Given the description of an element on the screen output the (x, y) to click on. 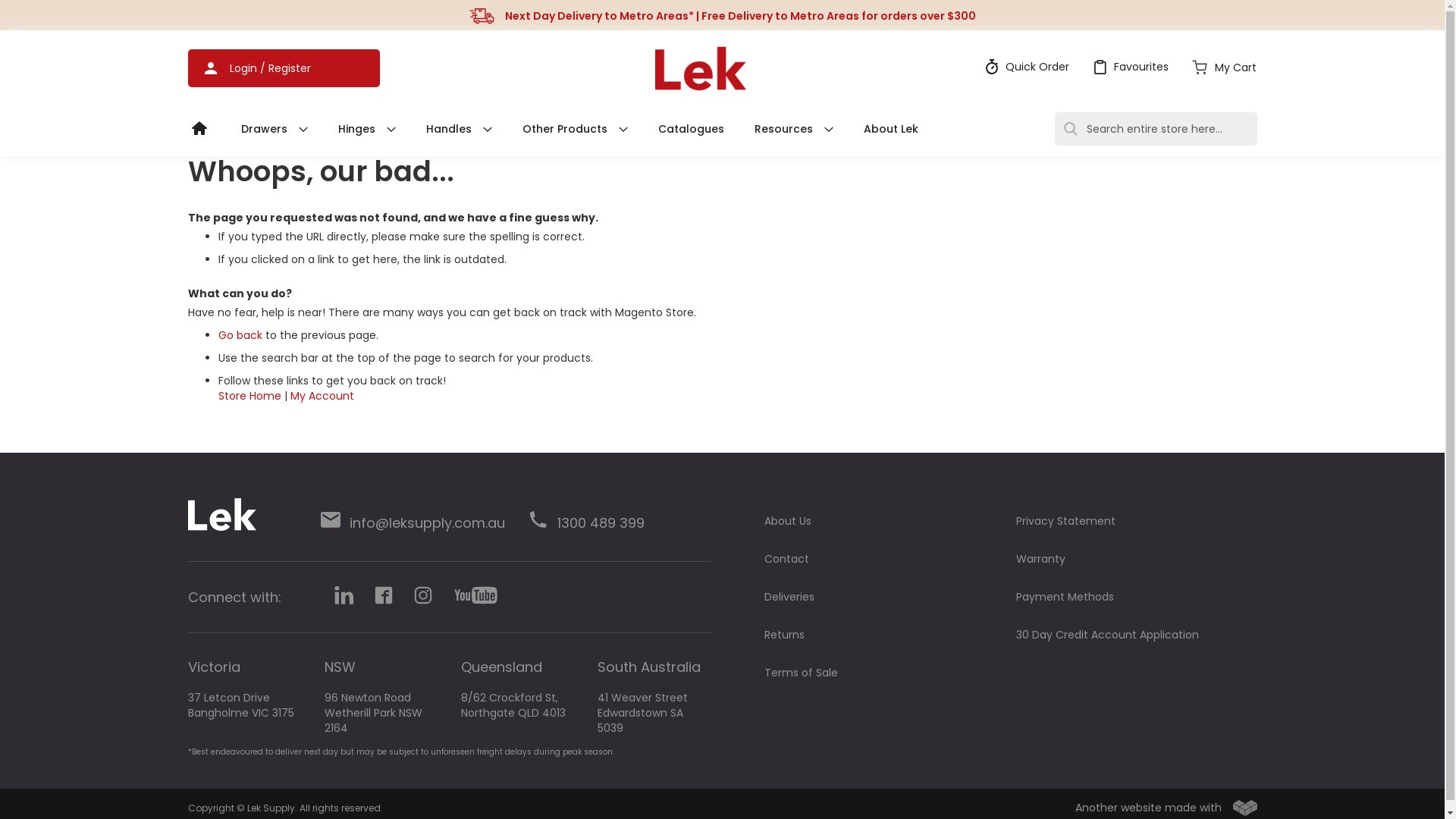
Go back Element type: text (240, 334)
Warranty Element type: text (1040, 558)
info@leksupply.com.au Element type: text (412, 519)
Hinges Element type: text (367, 129)
Store Home Element type: text (249, 395)
About Lek Element type: text (889, 128)
Search Element type: hover (1069, 128)
Payment Methods Element type: text (1064, 596)
Terms of Sale Element type: text (800, 672)
Returns Element type: text (784, 634)
My Account Element type: text (321, 395)
Deliveries Element type: text (789, 596)
Handles Element type: text (459, 129)
Resources Element type: text (792, 129)
Drawers Element type: text (274, 129)
Contact Element type: text (786, 558)
30 Day Credit Account Application Element type: text (1107, 634)
Login / Register Element type: text (284, 68)
Catalogues Element type: text (691, 128)
Privacy Statement Element type: text (1065, 520)
Favourites Element type: text (1128, 66)
Quick Order Element type: text (1024, 66)
My Cart Element type: text (1222, 68)
1300 489 399 Element type: text (585, 519)
About Us Element type: text (787, 520)
Other Products Element type: text (574, 129)
